Given the description of an element on the screen output the (x, y) to click on. 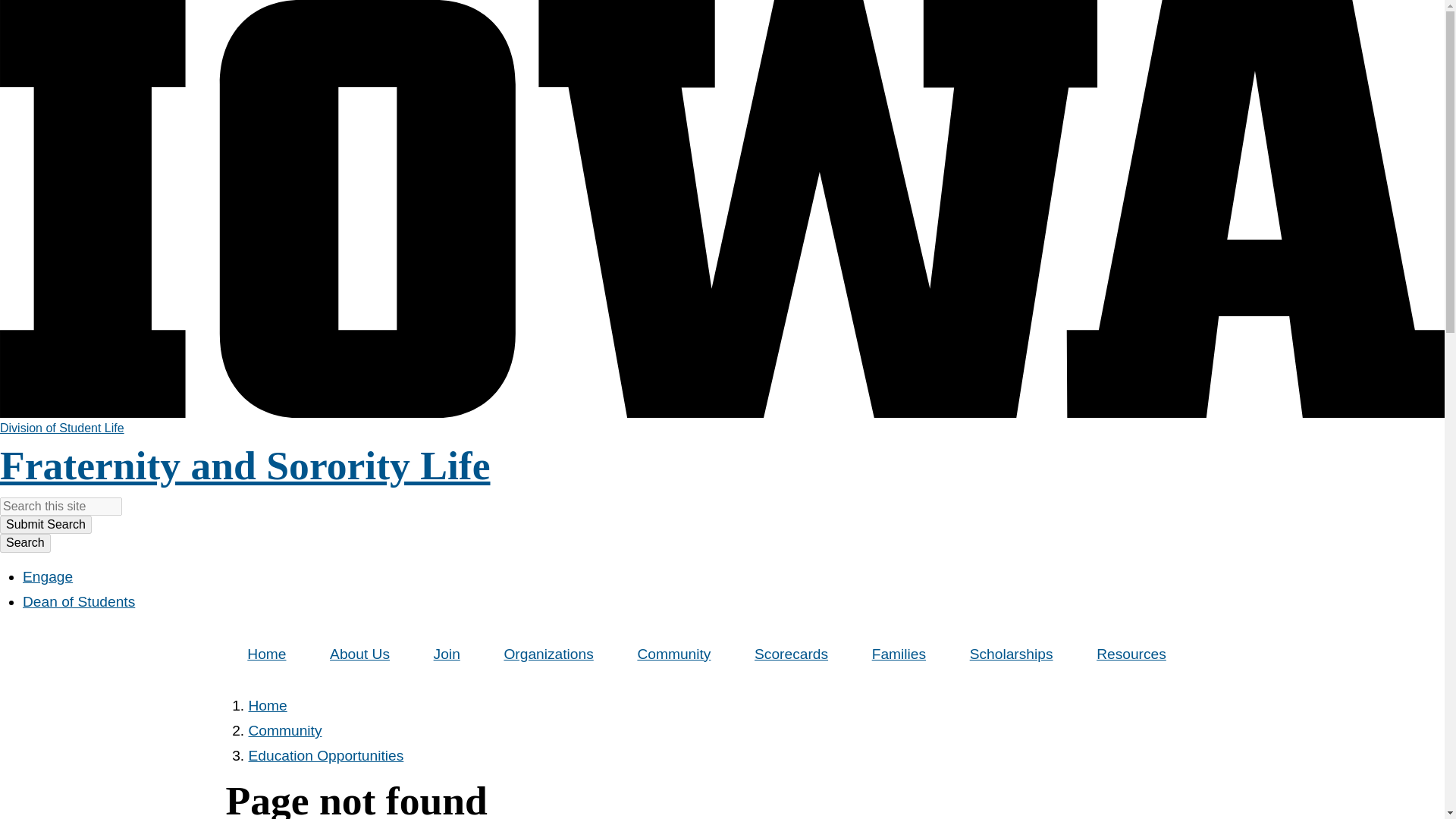
Scorecards (791, 654)
Fraternity and Sorority Life (245, 465)
Join (446, 654)
Community (674, 654)
Home (266, 654)
Scholarships (1010, 654)
Organizations (548, 654)
Division of Student Life (61, 427)
Resources (1131, 654)
Engage (47, 576)
Submit Search (45, 524)
About Us (359, 654)
Skip to main content (7, 7)
Home (267, 705)
Dean of Students (79, 601)
